Given the description of an element on the screen output the (x, y) to click on. 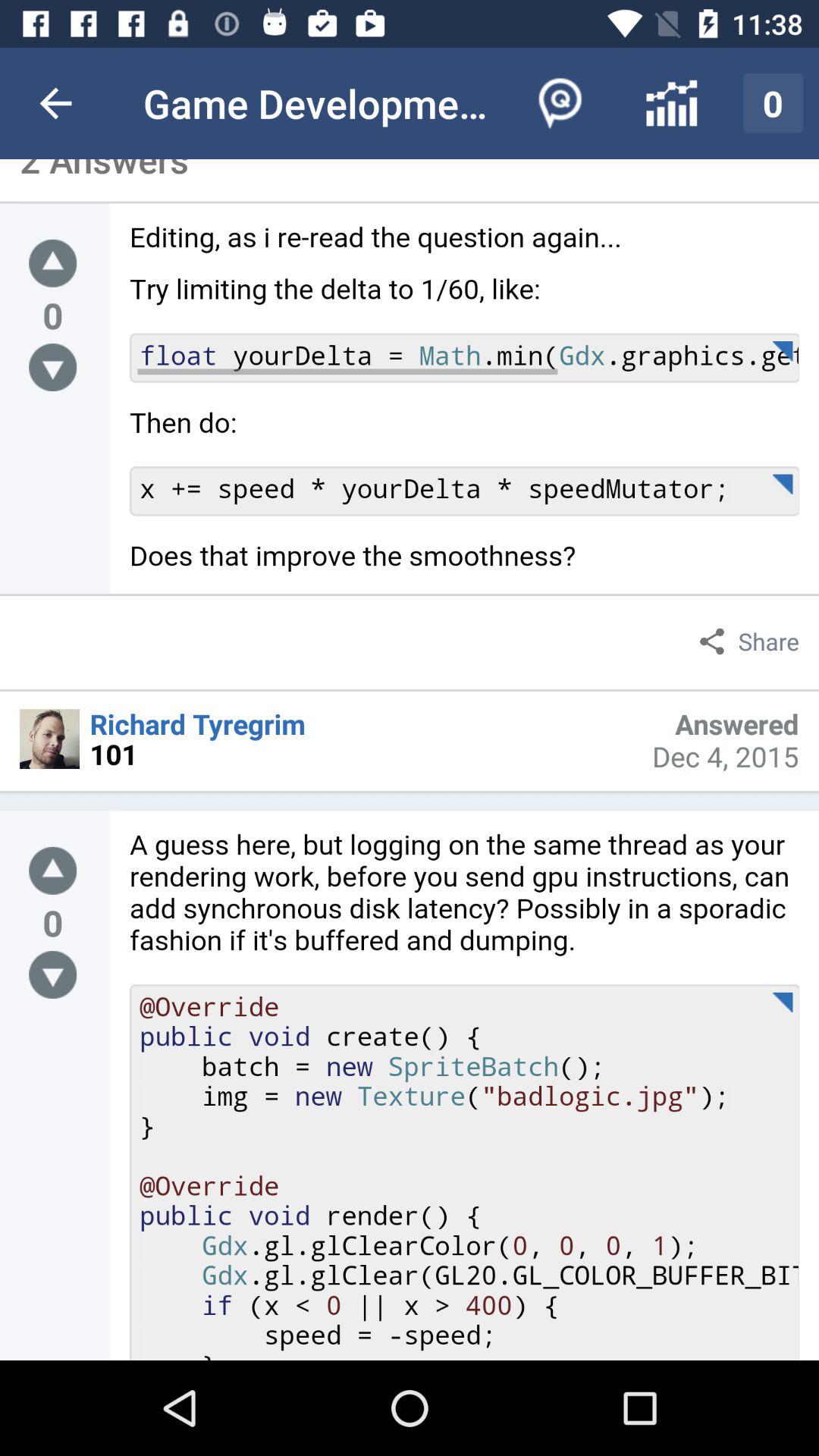
page down (52, 974)
